Given the description of an element on the screen output the (x, y) to click on. 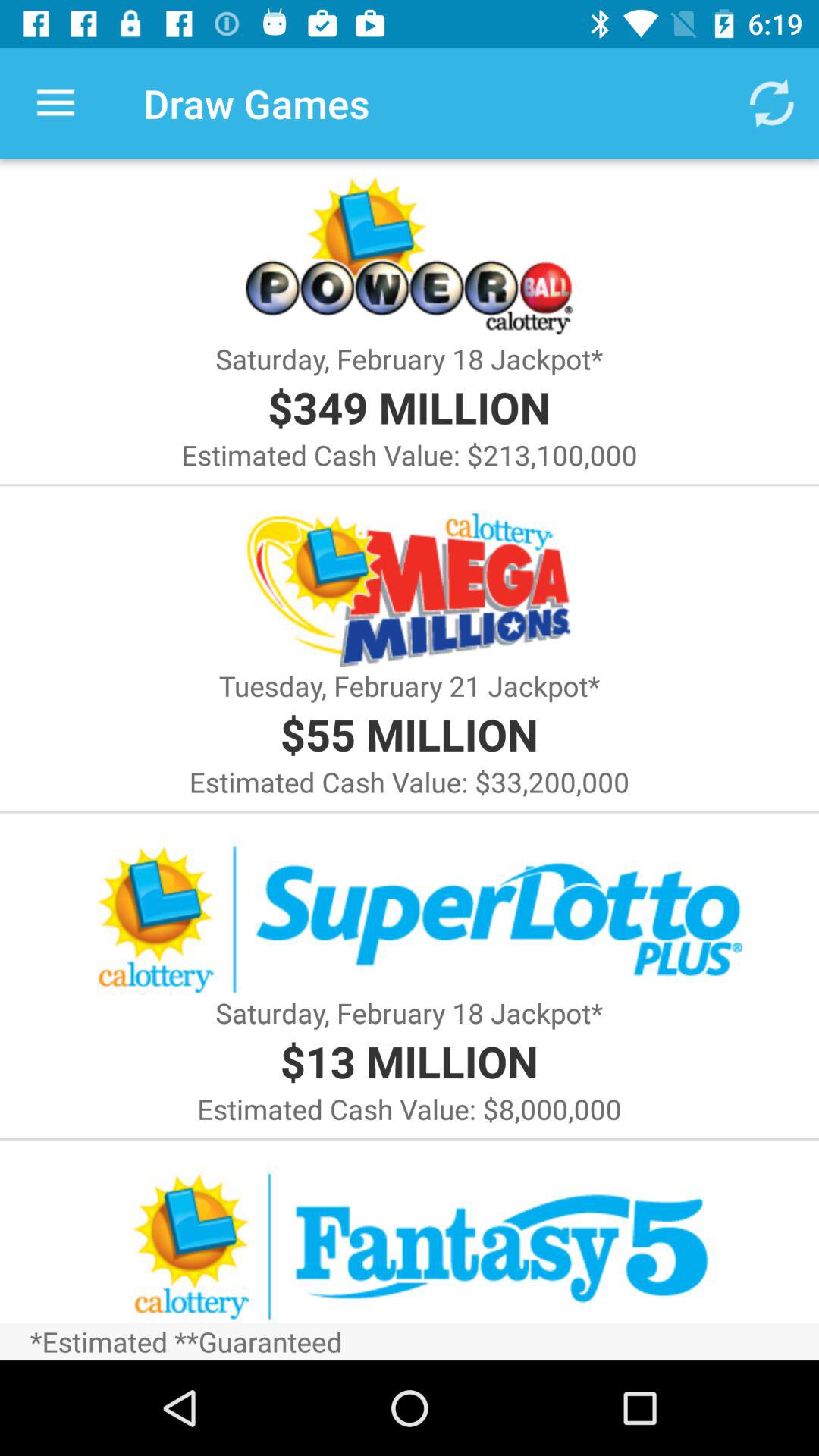
press the item below saturday february 18 (408, 406)
